Given the description of an element on the screen output the (x, y) to click on. 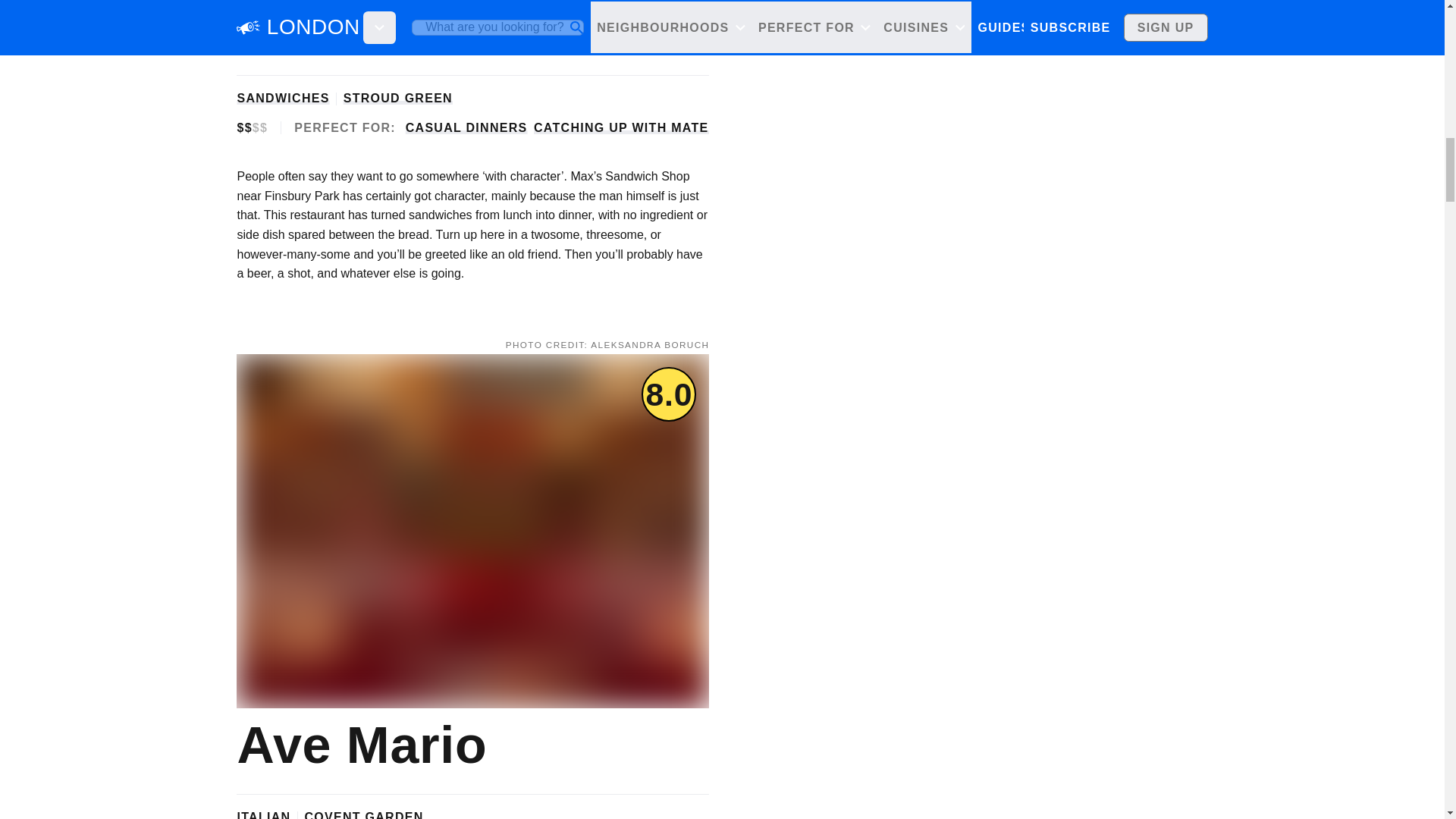
CASUAL DINNERS (466, 127)
Ave Mario (357, 744)
COVENT GARDEN (363, 814)
ITALIAN (262, 814)
SANDWICHES (282, 98)
STROUD GREEN (397, 98)
Max's Sandwich Shop (472, 31)
CATCHING UP WITH MATES (625, 127)
